Given the description of an element on the screen output the (x, y) to click on. 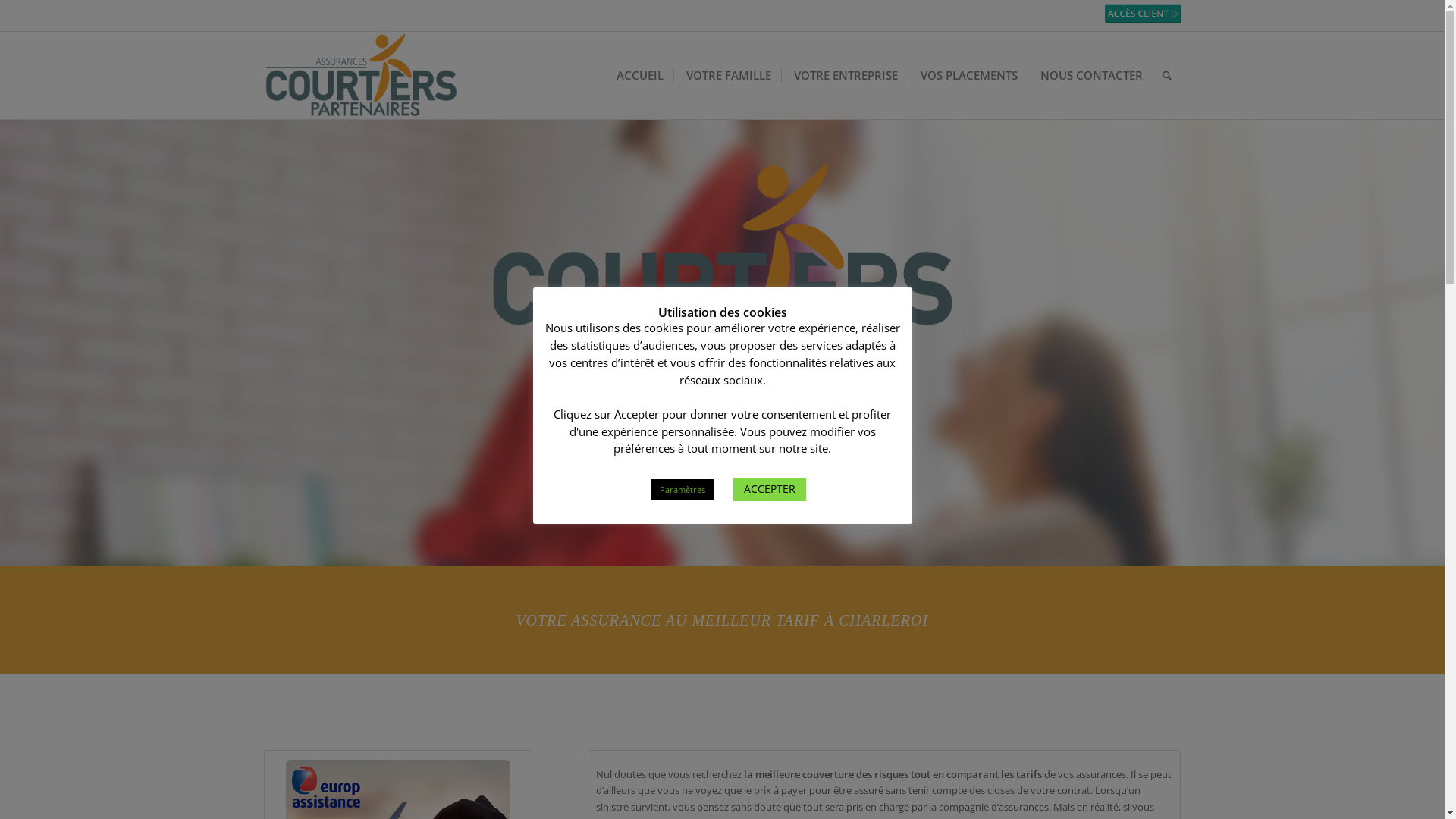
NOUS CONTACTER Element type: text (1088, 75)
VOS PLACEMENTS Element type: text (966, 75)
ACCUEIL Element type: text (637, 75)
ACCEPTER Element type: text (768, 489)
VOTRE ENTREPRISE Element type: text (844, 75)
VOTRE FAMILLE Element type: text (727, 75)
